Given the description of an element on the screen output the (x, y) to click on. 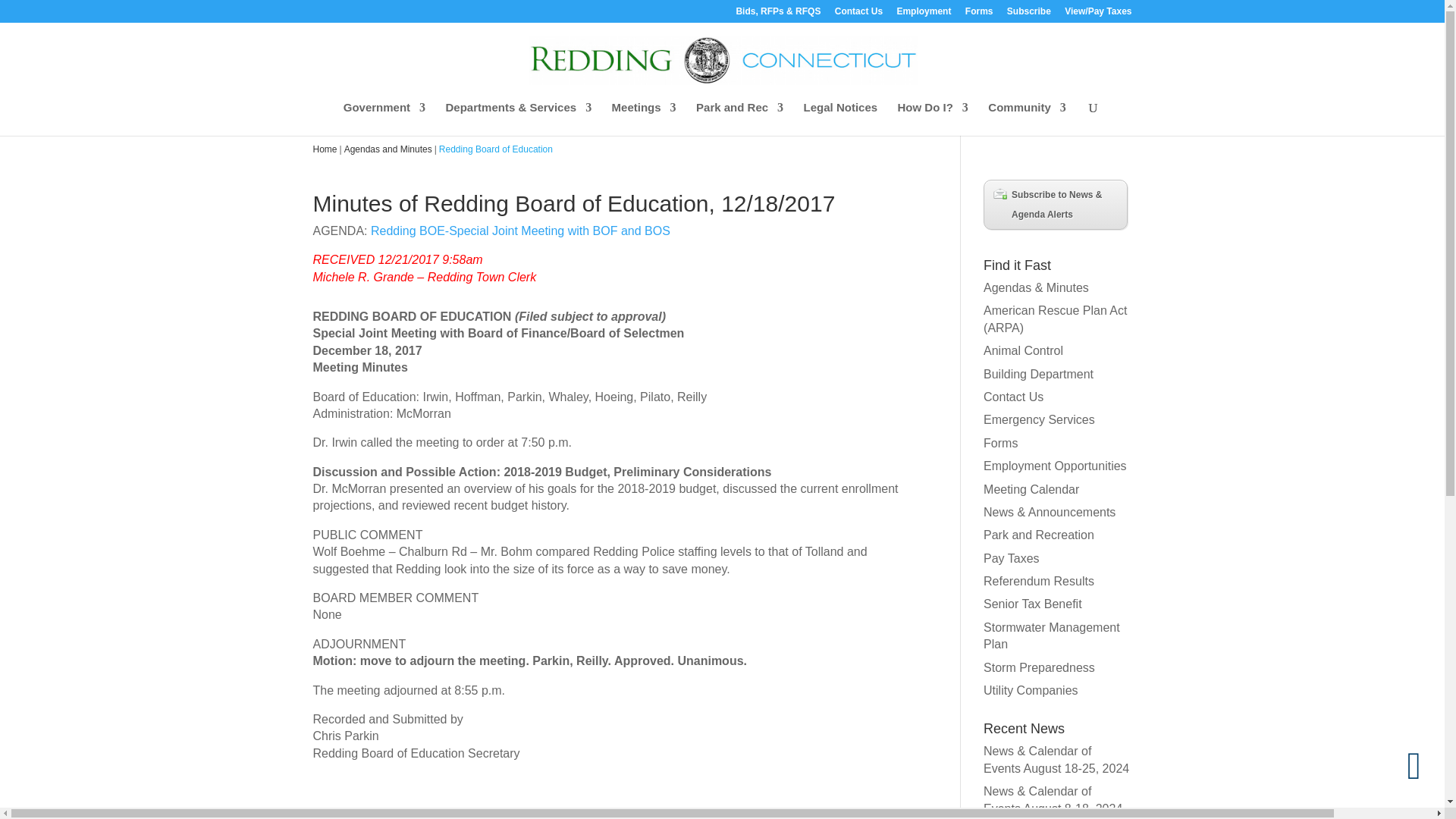
Employment (923, 14)
Government (384, 118)
Subscribe (1029, 14)
Contact Us (858, 14)
Forms (978, 14)
Go to Agendas and Minutes. (387, 149)
Go to Town of Redding, Connecticut Official Website. (324, 149)
